Given the description of an element on the screen output the (x, y) to click on. 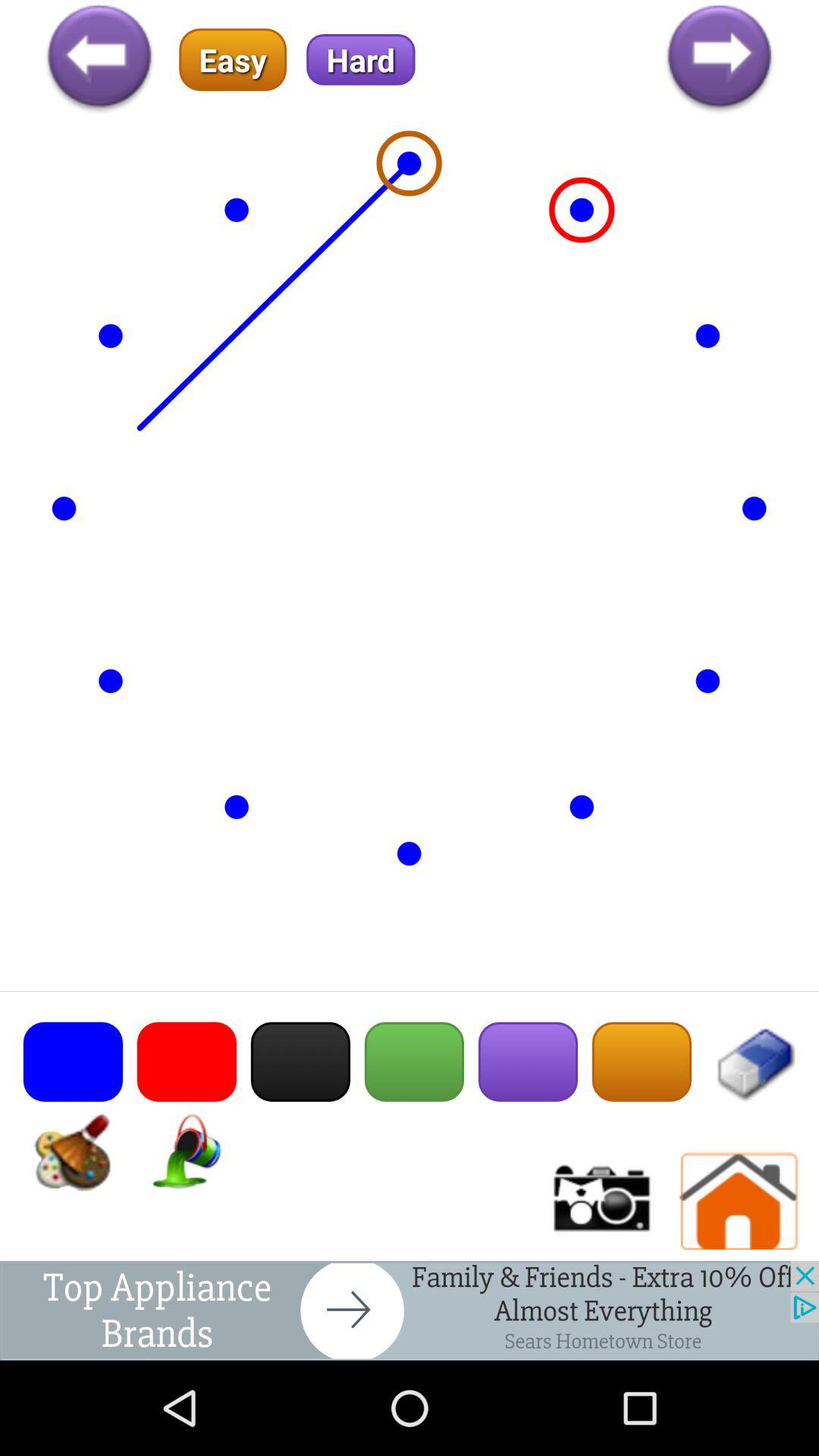
go to back (99, 59)
